Given the description of an element on the screen output the (x, y) to click on. 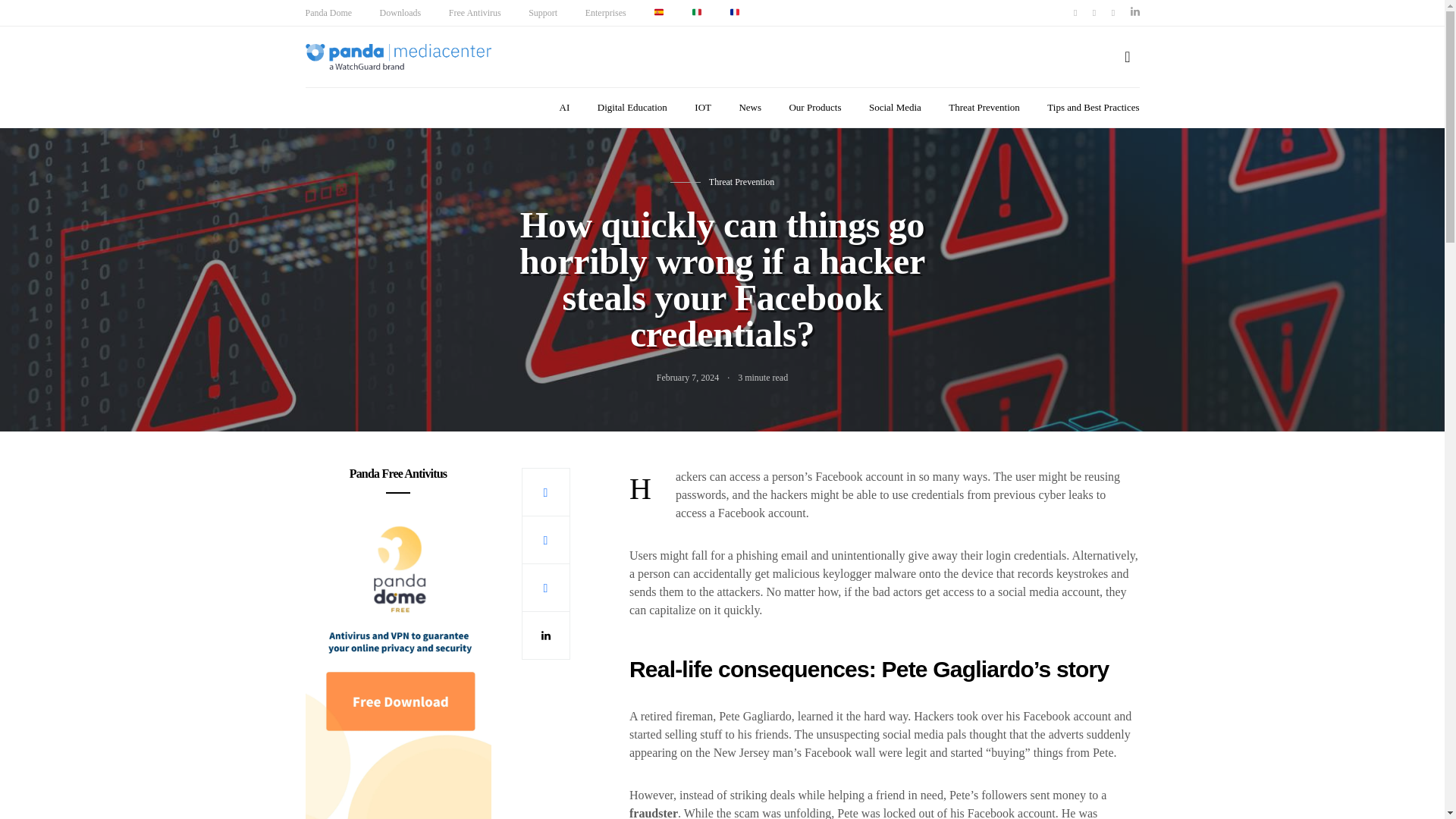
Our Products (815, 107)
Threat Prevention (741, 181)
Enterprises (605, 12)
Downloads (401, 12)
Tips and Best Practices (1092, 107)
Social Media (895, 107)
Free Antivirus (474, 12)
Threat Prevention (984, 107)
Panda Dome (328, 12)
Digital Education (631, 107)
